Given the description of an element on the screen output the (x, y) to click on. 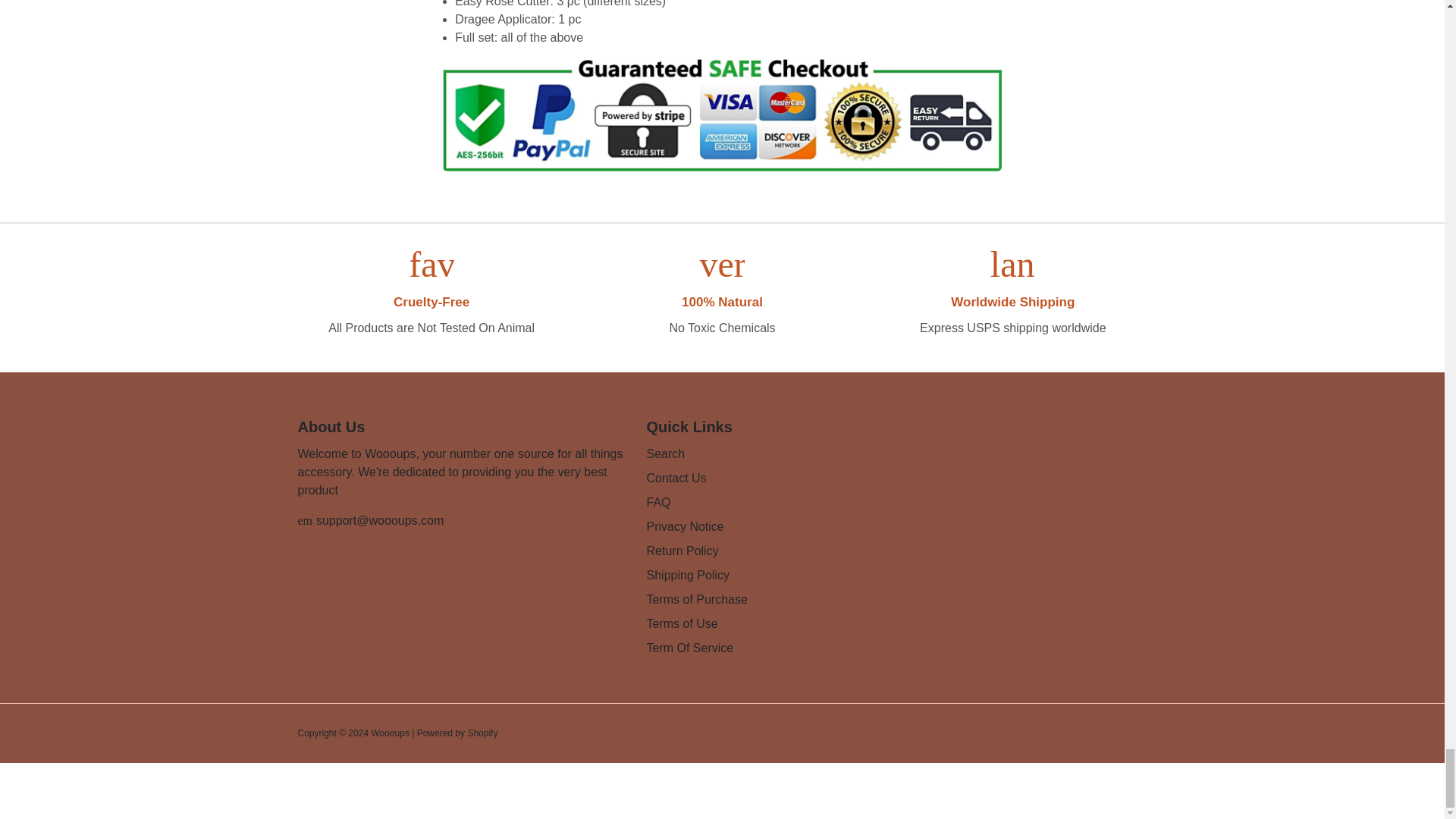
Create your own online store with Shopify (482, 733)
